Given the description of an element on the screen output the (x, y) to click on. 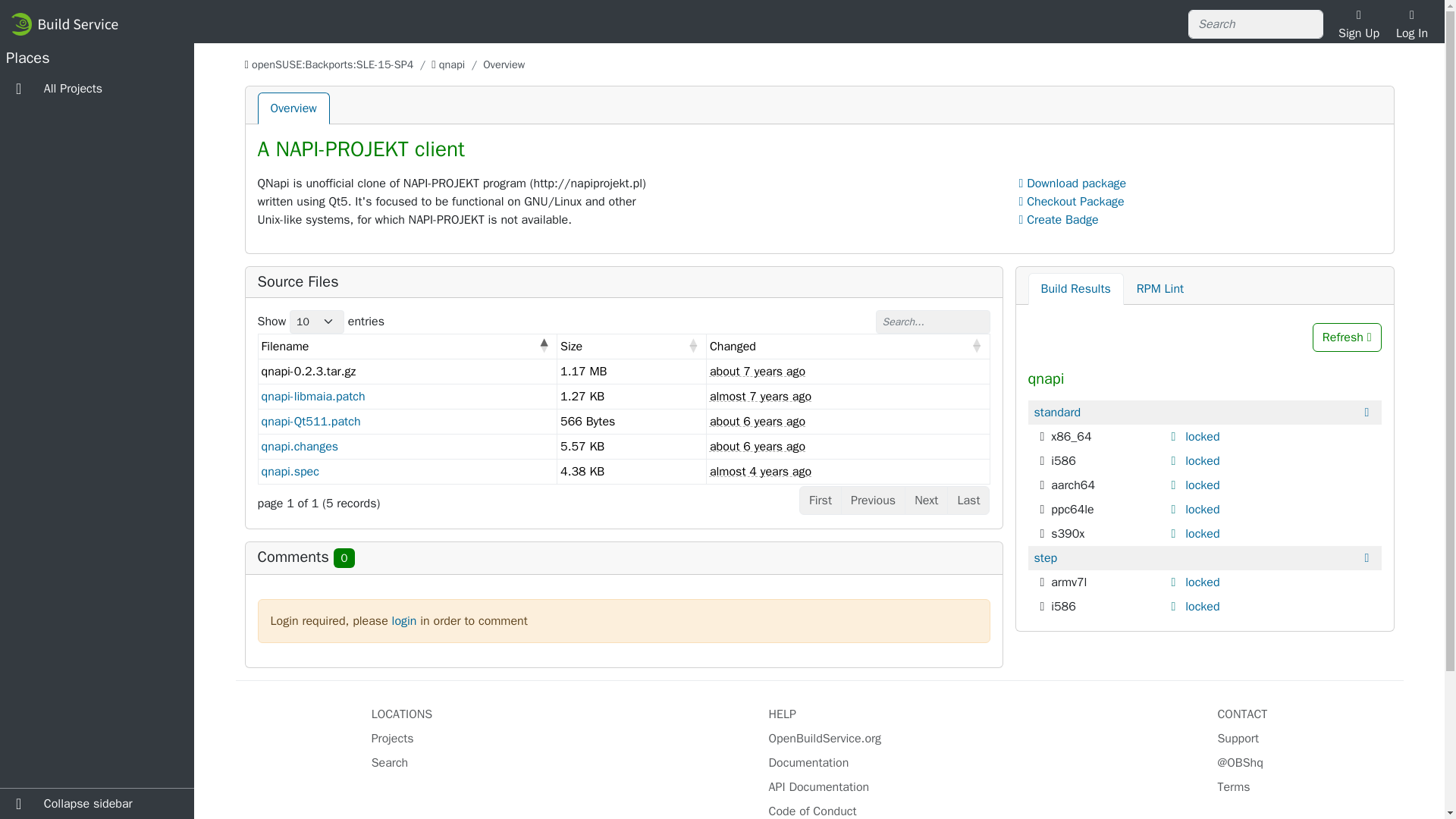
Click to keep it open (1175, 485)
step (1045, 557)
Last (968, 500)
locked (1202, 606)
Previous (873, 500)
Refresh Build Results (1347, 337)
Next (925, 500)
qnapi.spec (289, 471)
locked (1202, 485)
Build Results (1075, 288)
Click to keep it open (1175, 533)
Overview (293, 108)
Binaries for standard (1057, 412)
locked (1202, 581)
qnapi-Qt511.patch (309, 421)
